Given the description of an element on the screen output the (x, y) to click on. 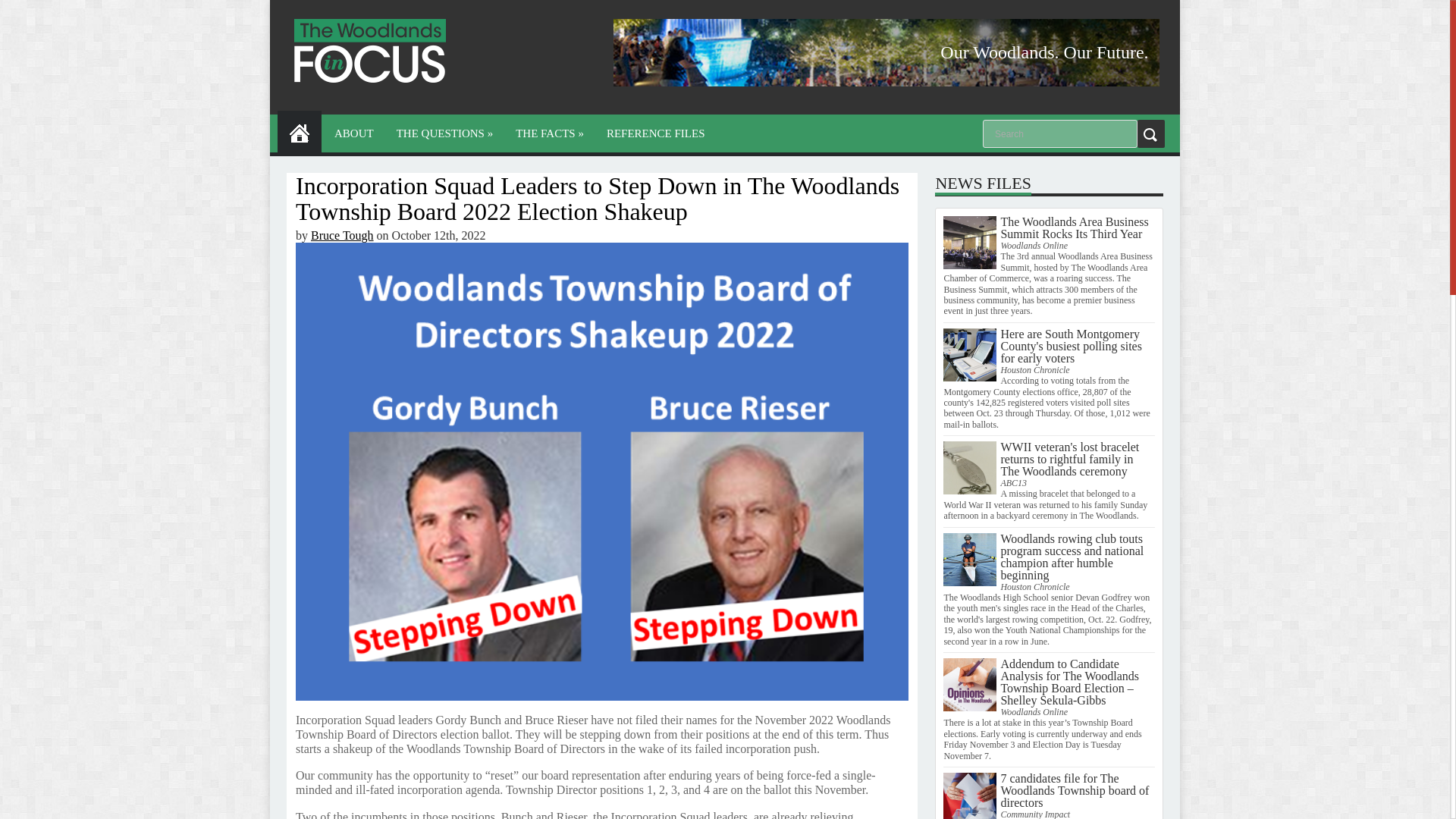
The Woodlands Area Business Summit Rocks Its Third Year (1074, 227)
REFERENCE FILES (655, 133)
Enter the terms you wish to search for. (1059, 133)
Bruce Tough (342, 235)
Search (1059, 133)
ABOUT (354, 133)
